Given the description of an element on the screen output the (x, y) to click on. 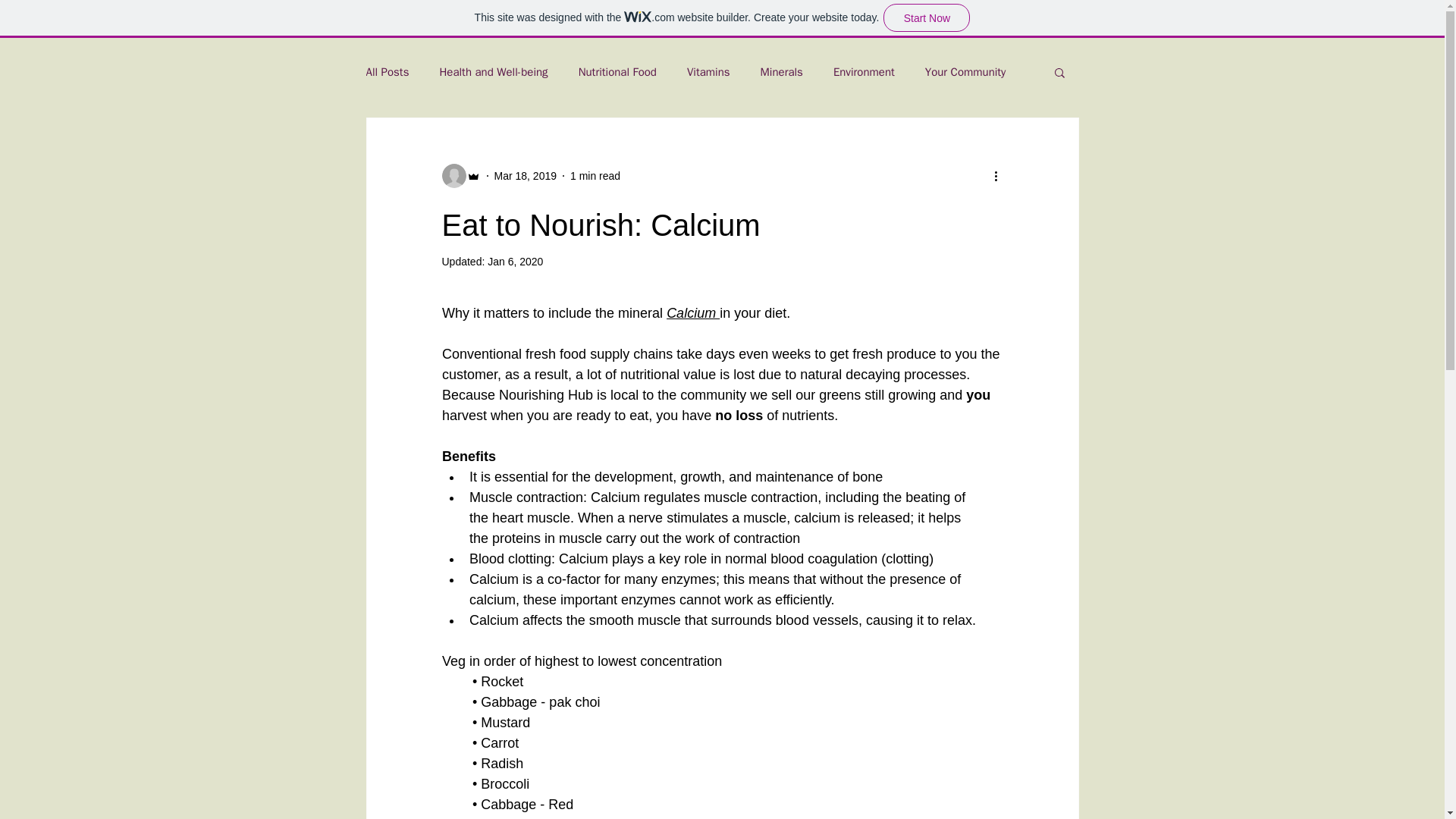
1 min read (595, 175)
Environment (863, 72)
Minerals (781, 72)
Jan 6, 2020 (515, 261)
Vitamins (708, 72)
Mar 18, 2019 (526, 175)
Nutritional Food (617, 72)
All Posts (387, 72)
Health and Well-being (493, 72)
Your Community (965, 72)
